Given the description of an element on the screen output the (x, y) to click on. 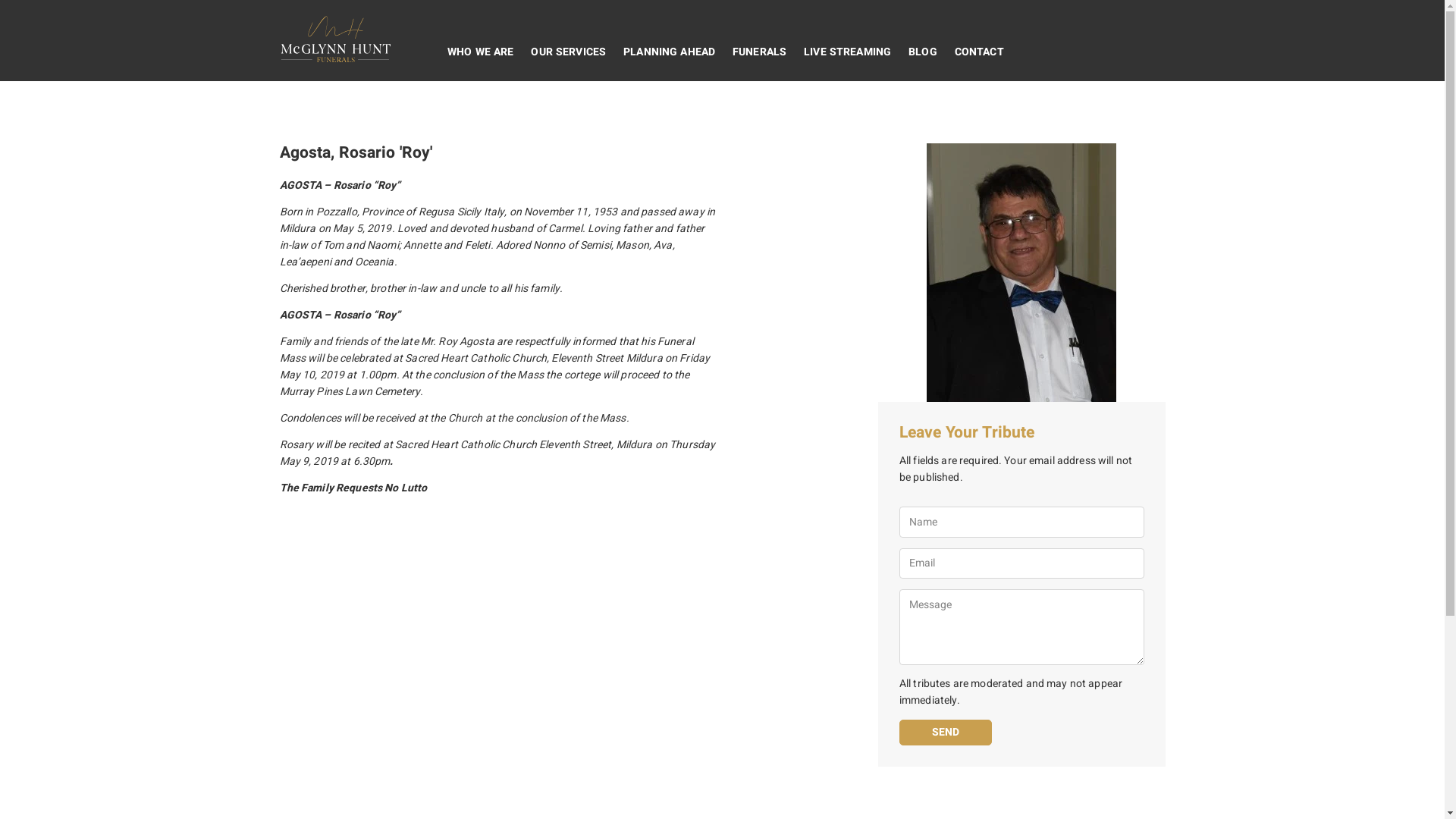
CONTACT Element type: text (978, 51)
WHO WE ARE Element type: text (480, 51)
Send Element type: text (945, 732)
LIVE STREAMING Element type: text (847, 51)
OUR SERVICES Element type: text (568, 51)
PLANNING AHEAD Element type: text (669, 51)
BLOG Element type: text (922, 51)
FUNERALS Element type: text (759, 51)
